Given the description of an element on the screen output the (x, y) to click on. 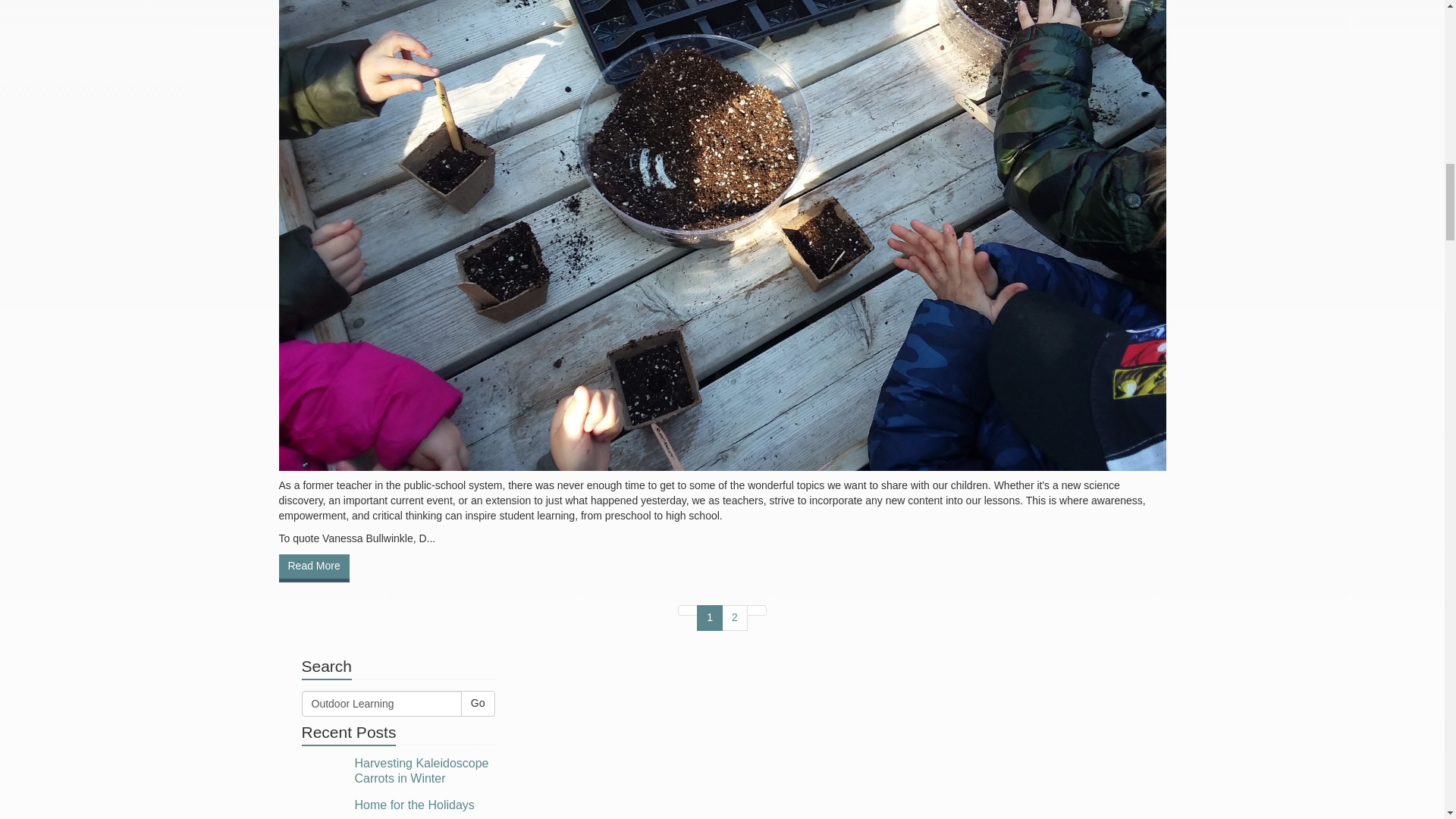
Outdoor Learning (381, 703)
